Given the description of an element on the screen output the (x, y) to click on. 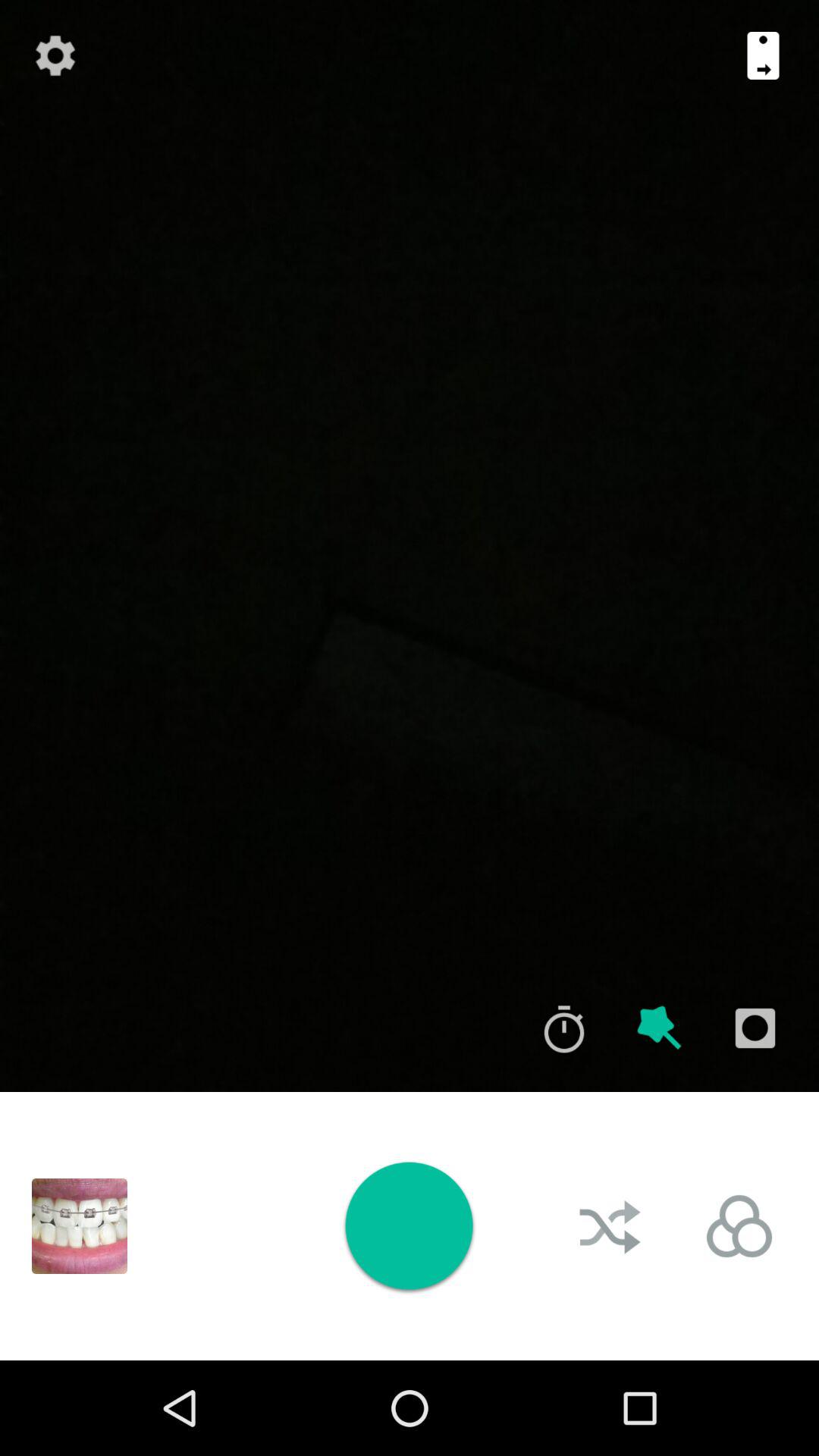
flip camera (763, 55)
